Given the description of an element on the screen output the (x, y) to click on. 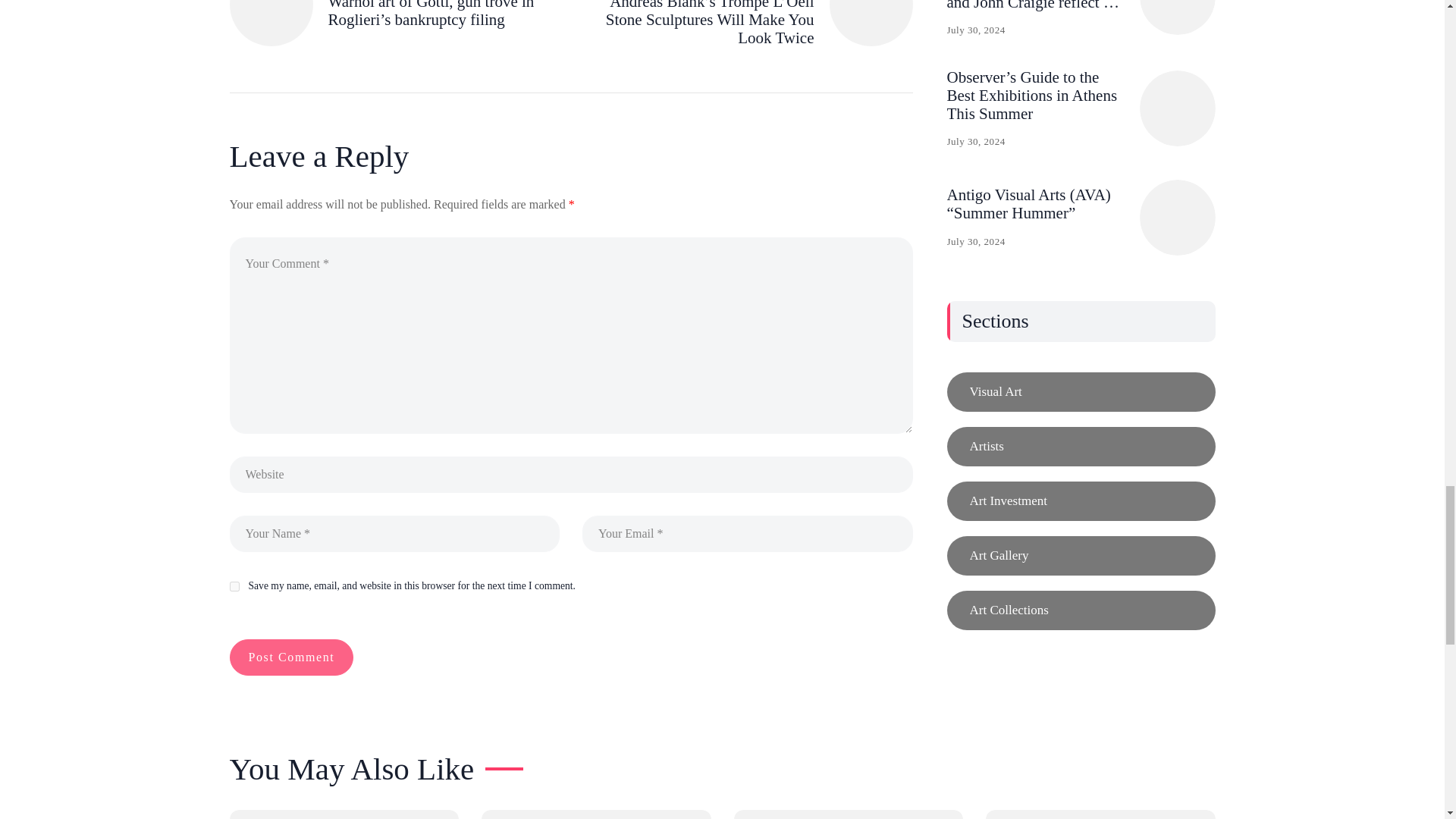
Post Comment (290, 657)
yes (233, 586)
Post Comment (290, 657)
